Given the description of an element on the screen output the (x, y) to click on. 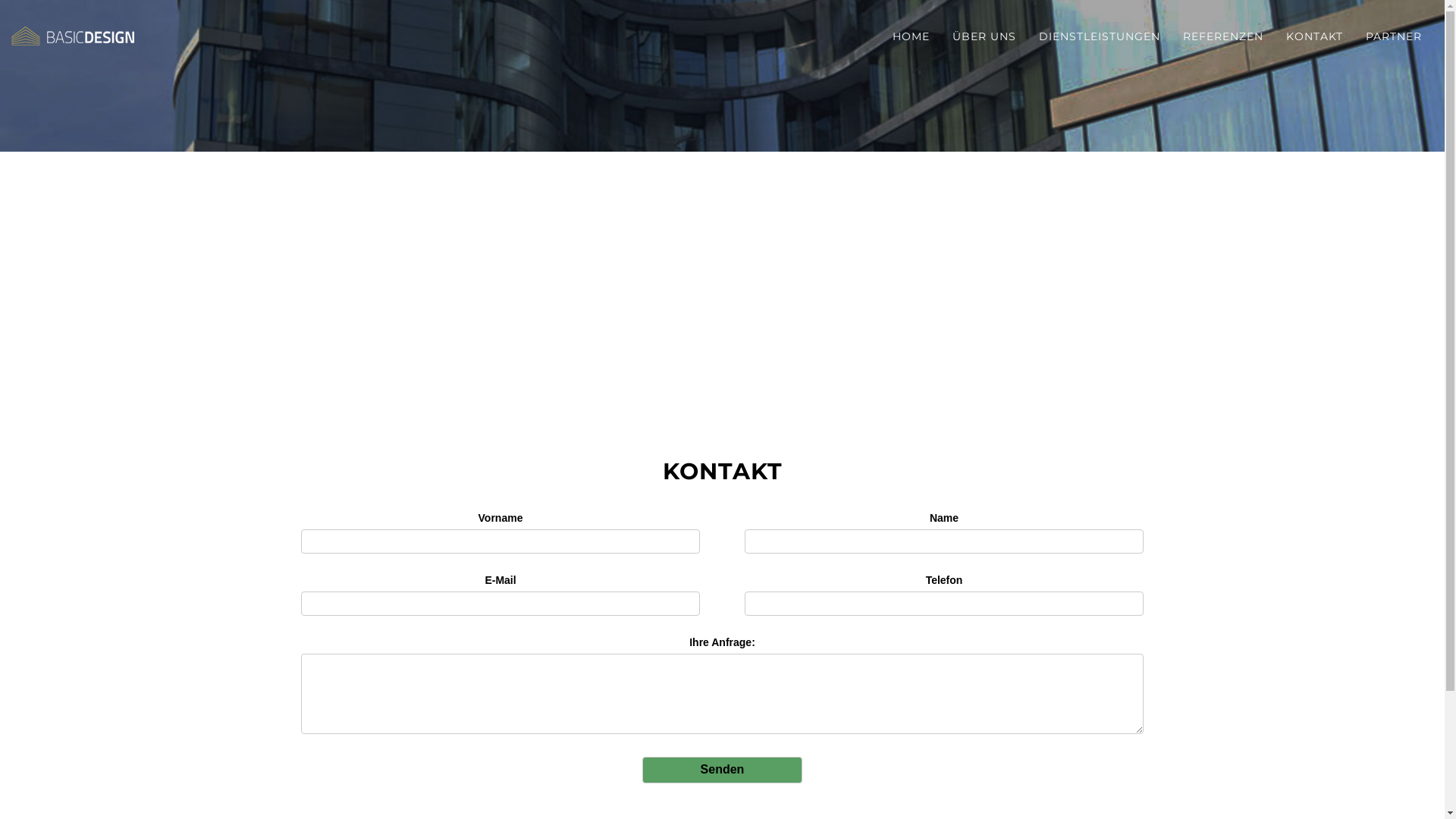
PARTNER Element type: text (1393, 36)
DIENSTLEISTUNGEN Element type: text (1099, 36)
HOME Element type: text (911, 36)
REFERENZEN Element type: text (1222, 36)
Senden Element type: text (722, 769)
KONTAKT Element type: text (1314, 36)
